Given the description of an element on the screen output the (x, y) to click on. 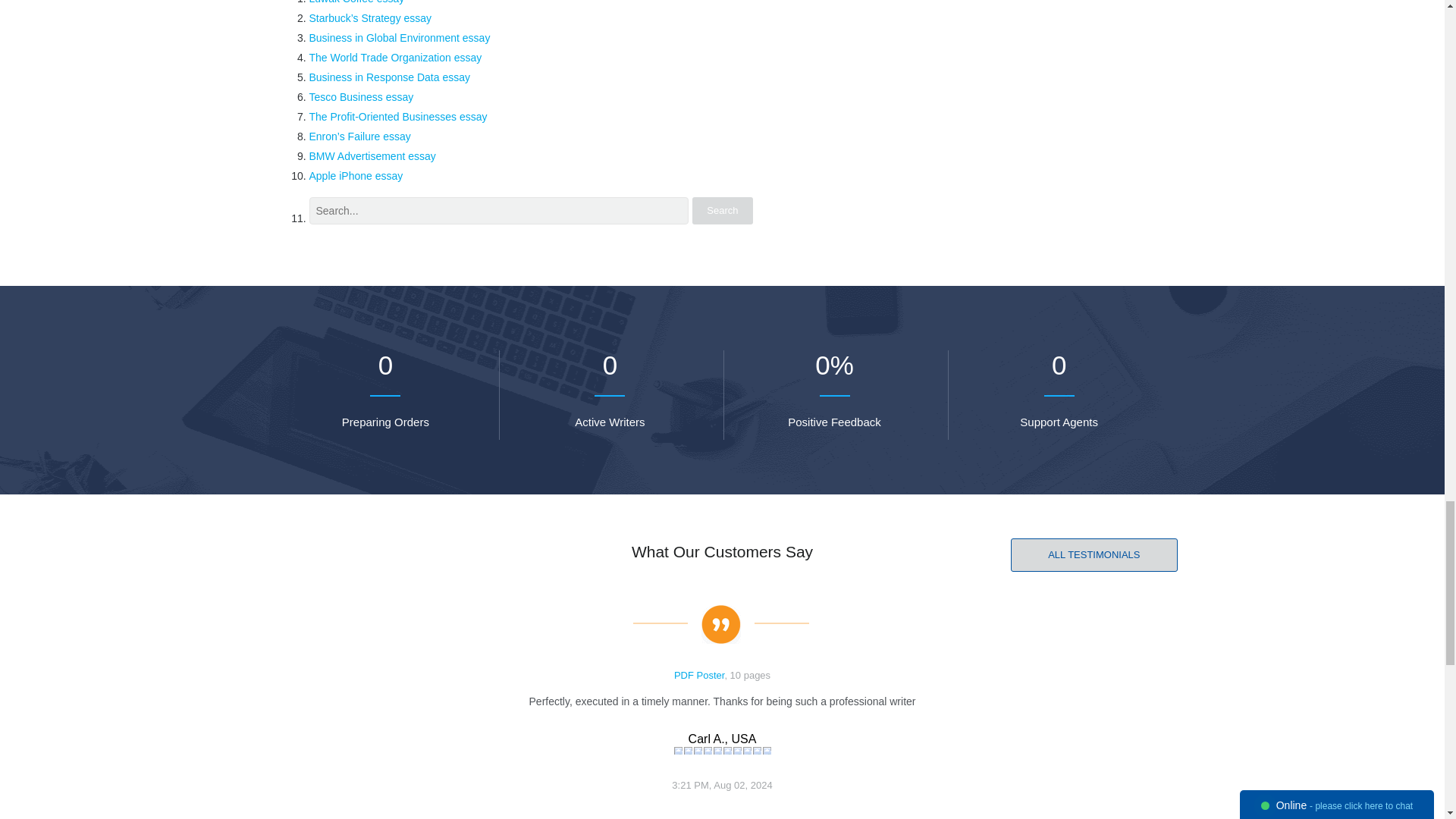
Luwak Coffee essay (356, 2)
Search (722, 210)
